Given the description of an element on the screen output the (x, y) to click on. 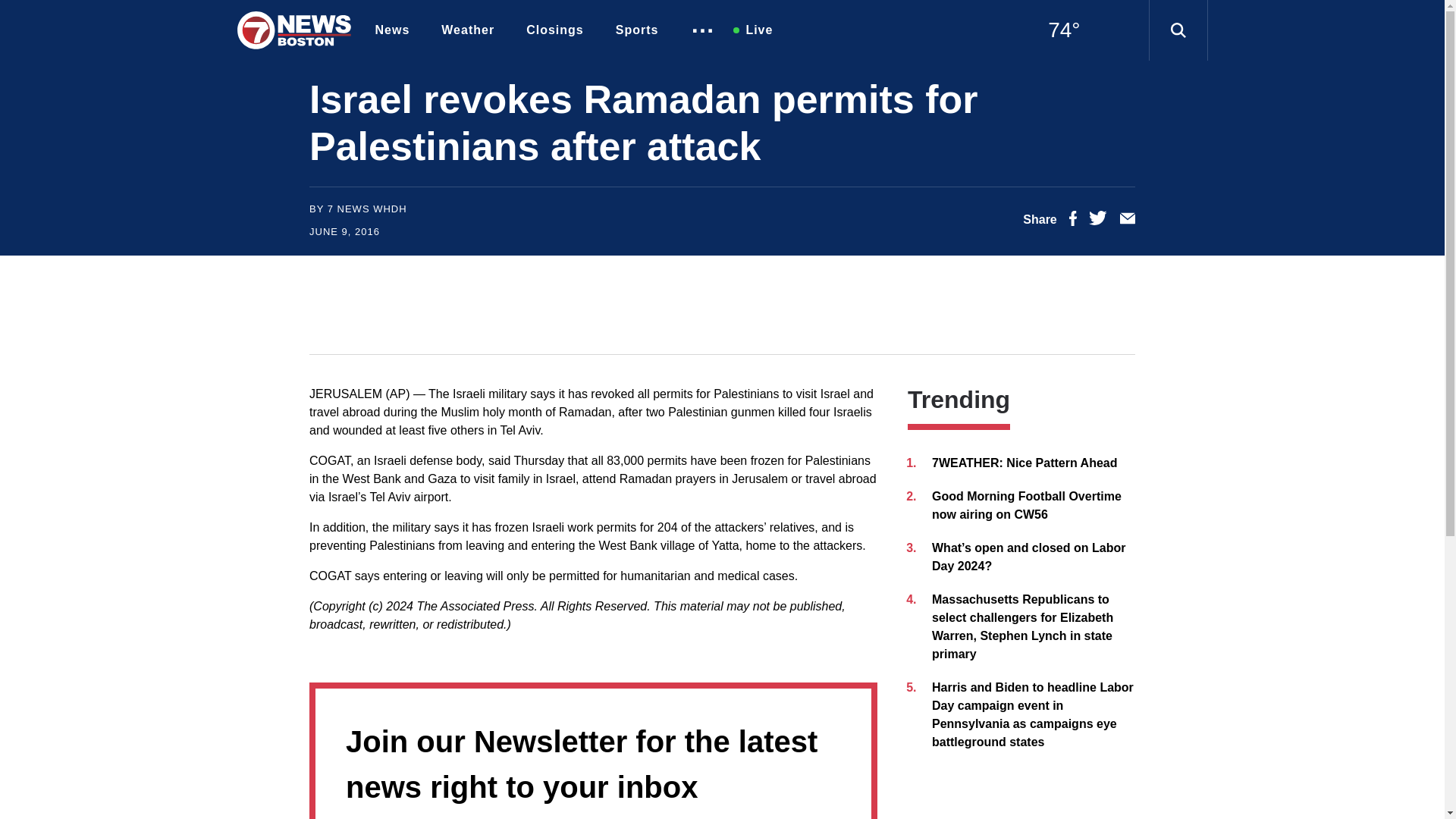
News (395, 30)
Posts by 7 News WHDH (367, 208)
June 9, 2016 (344, 231)
Closings (558, 30)
Twitter (1098, 221)
Weather (471, 30)
Email (1127, 221)
Sports (641, 30)
